Given the description of an element on the screen output the (x, y) to click on. 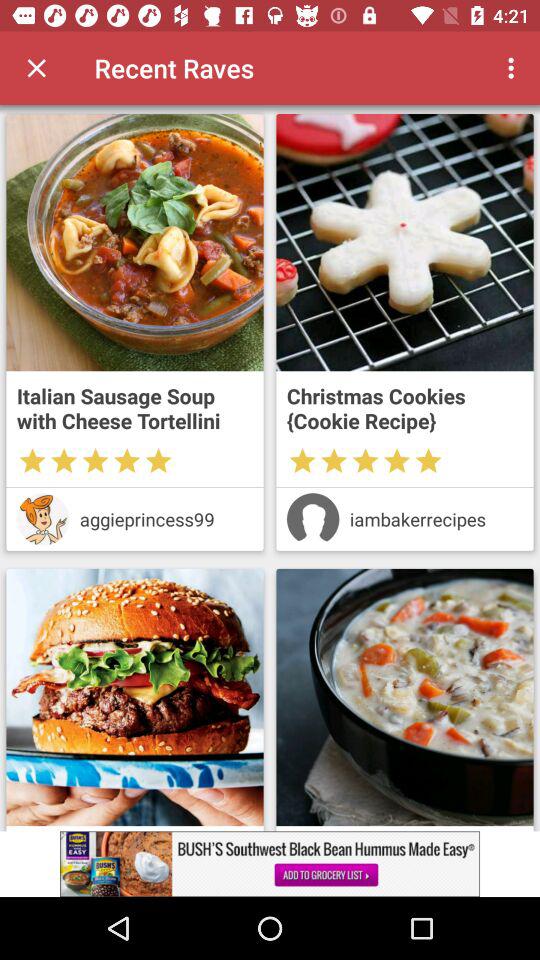
switch close option (36, 68)
